Given the description of an element on the screen output the (x, y) to click on. 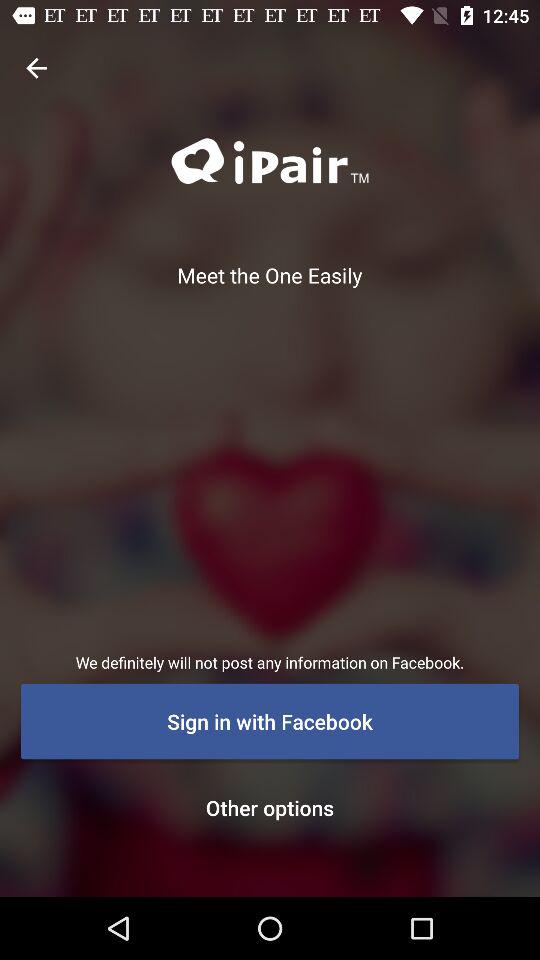
tap icon at the top left corner (36, 68)
